Given the description of an element on the screen output the (x, y) to click on. 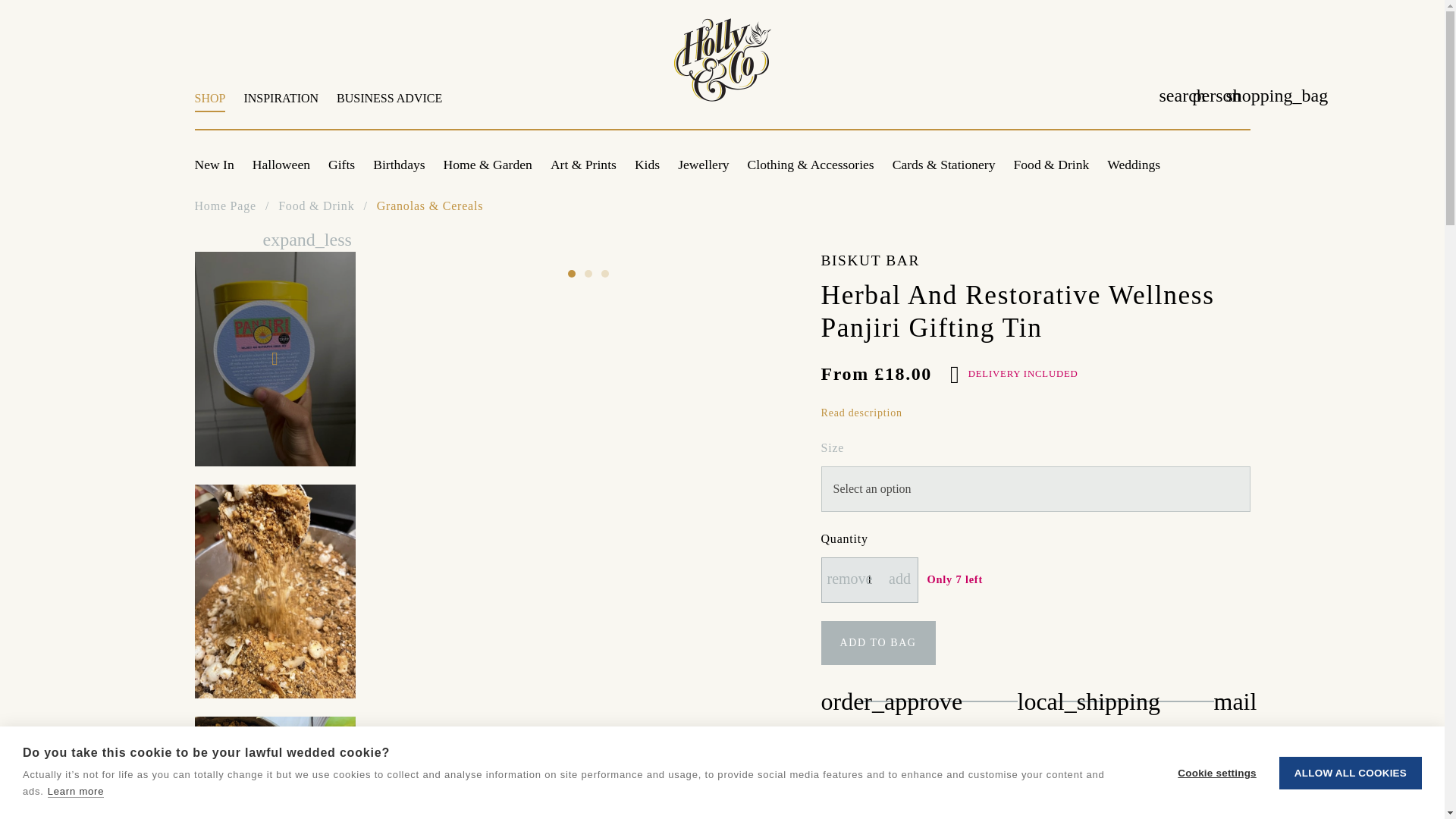
1 (589, 105)
BUSINESS ADVICE (869, 579)
INSPIRATION (384, 106)
Halloween (280, 106)
